Given the description of an element on the screen output the (x, y) to click on. 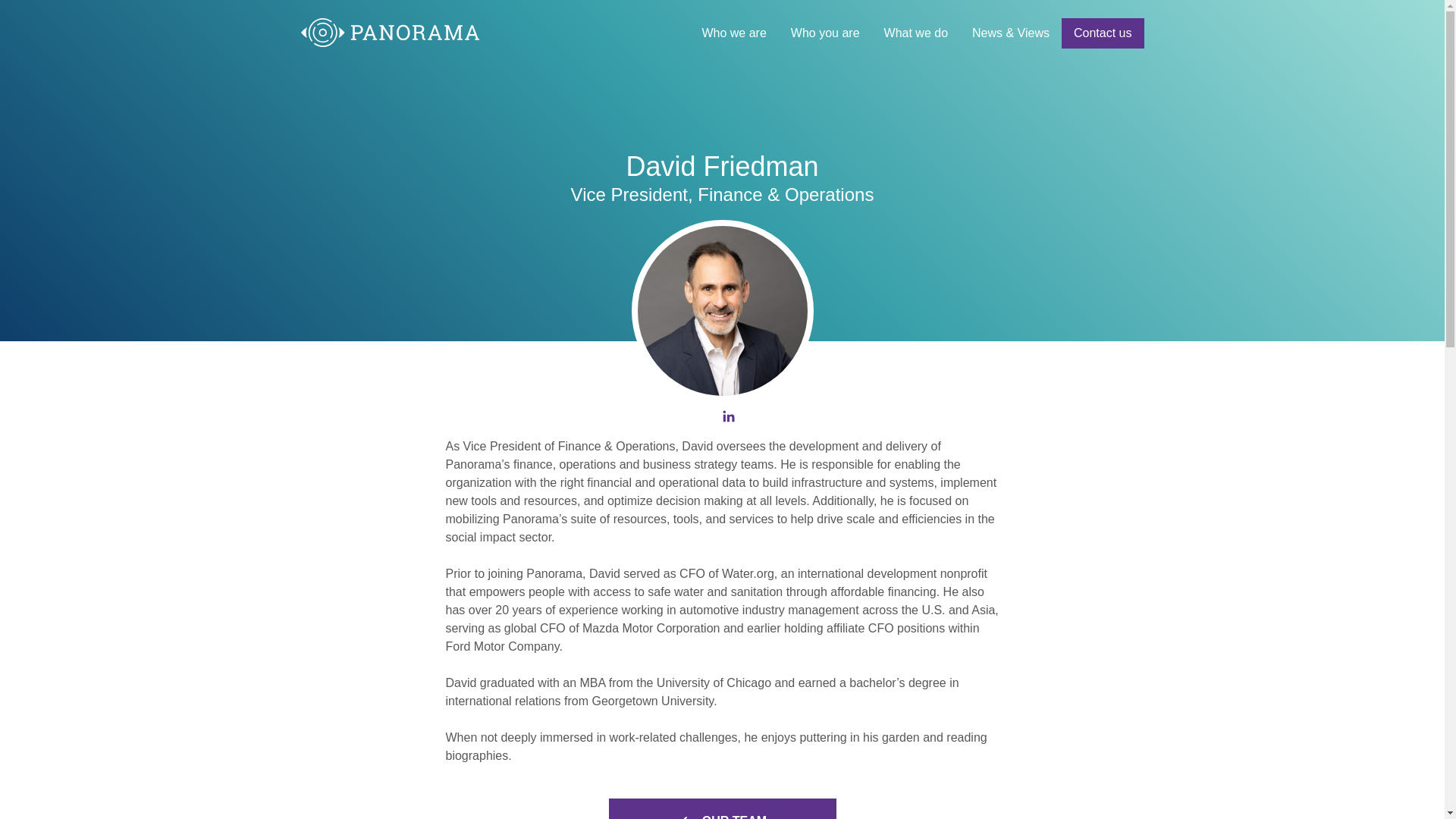
What we do (915, 33)
Who we are (732, 33)
OUR TEAM (721, 808)
Who you are (825, 33)
Contact us (1101, 33)
